Given the description of an element on the screen output the (x, y) to click on. 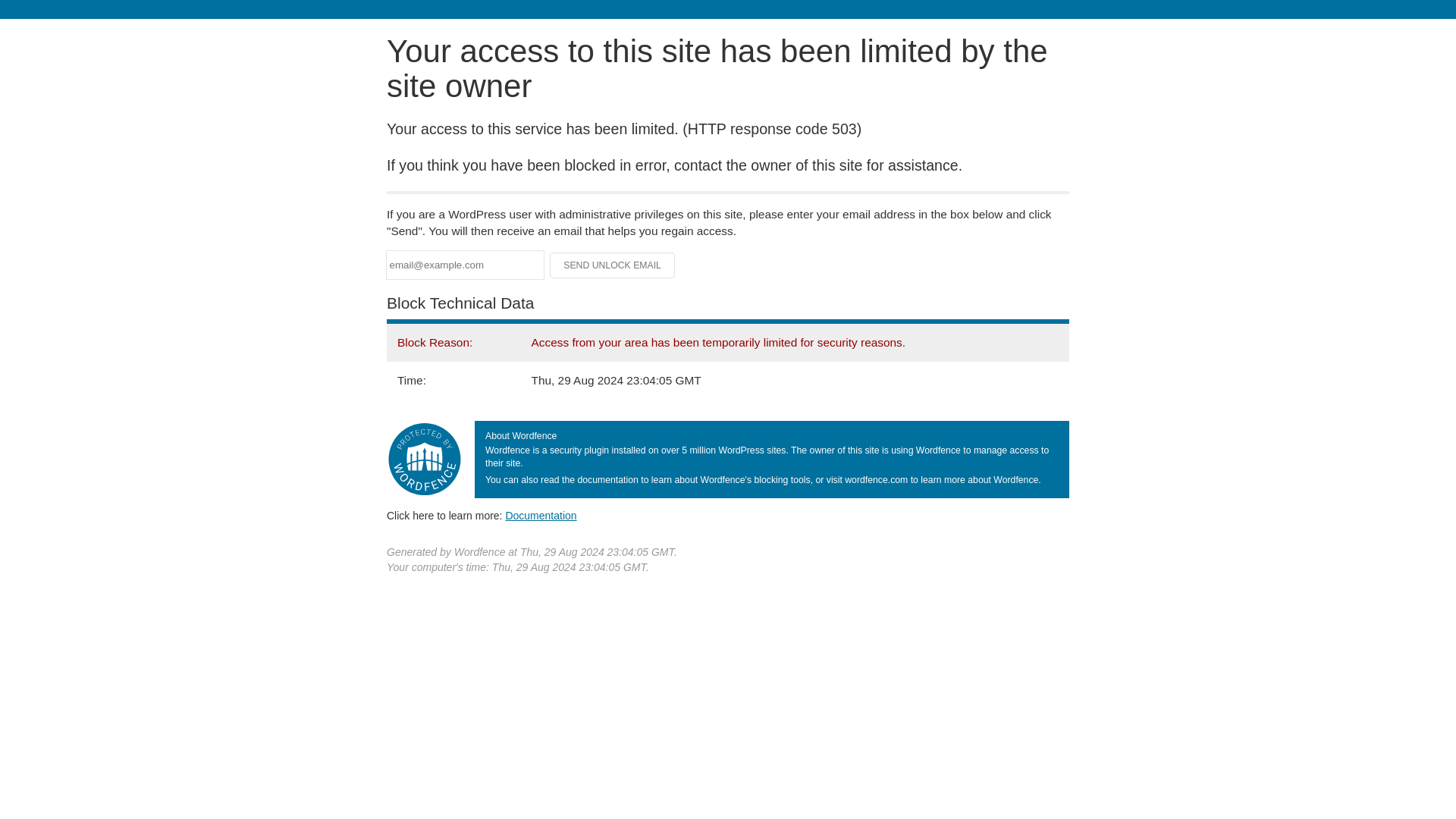
Documentation (540, 515)
Send Unlock Email (612, 265)
Send Unlock Email (612, 265)
